Given the description of an element on the screen output the (x, y) to click on. 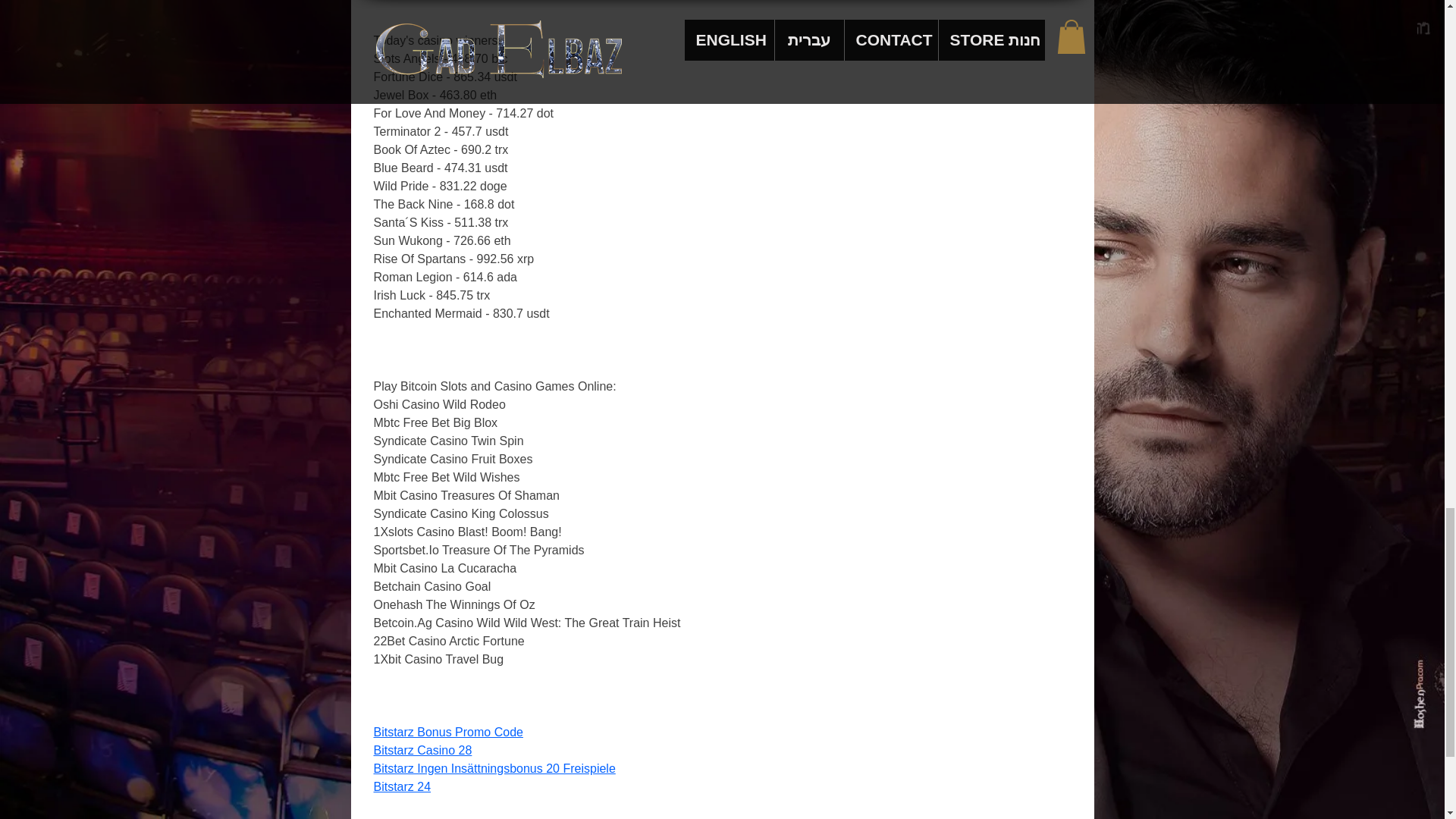
Bitstarz Casino 28 (421, 749)
Bitstarz Bonus Promo Code (447, 731)
Bitstarz 24 (401, 786)
